Given the description of an element on the screen output the (x, y) to click on. 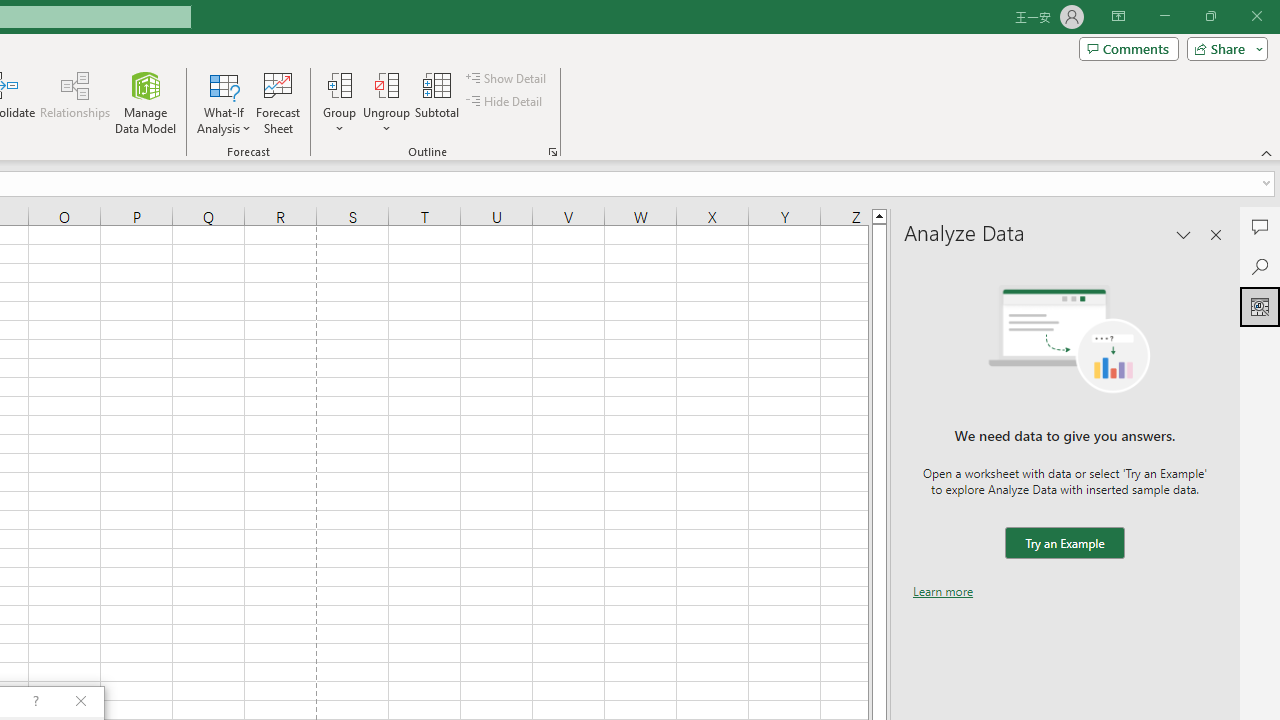
What-If Analysis (223, 102)
Subtotal (437, 102)
Show Detail (507, 78)
We need data to give you answers. Try an Example (1064, 543)
